Given the description of an element on the screen output the (x, y) to click on. 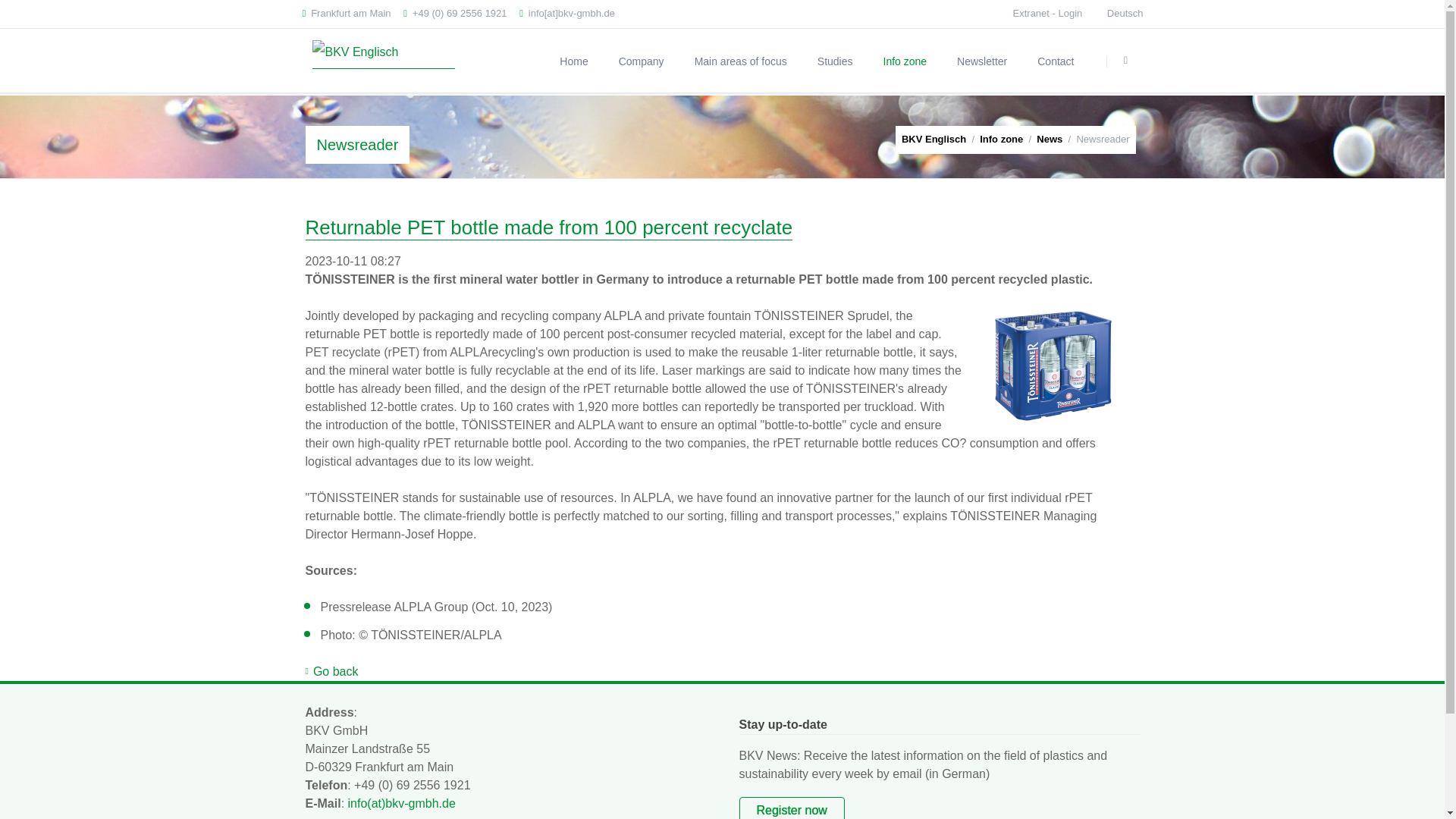
Extranet - Login (1048, 12)
Deutsch (1124, 13)
Frankfurt am Main (345, 13)
